Given the description of an element on the screen output the (x, y) to click on. 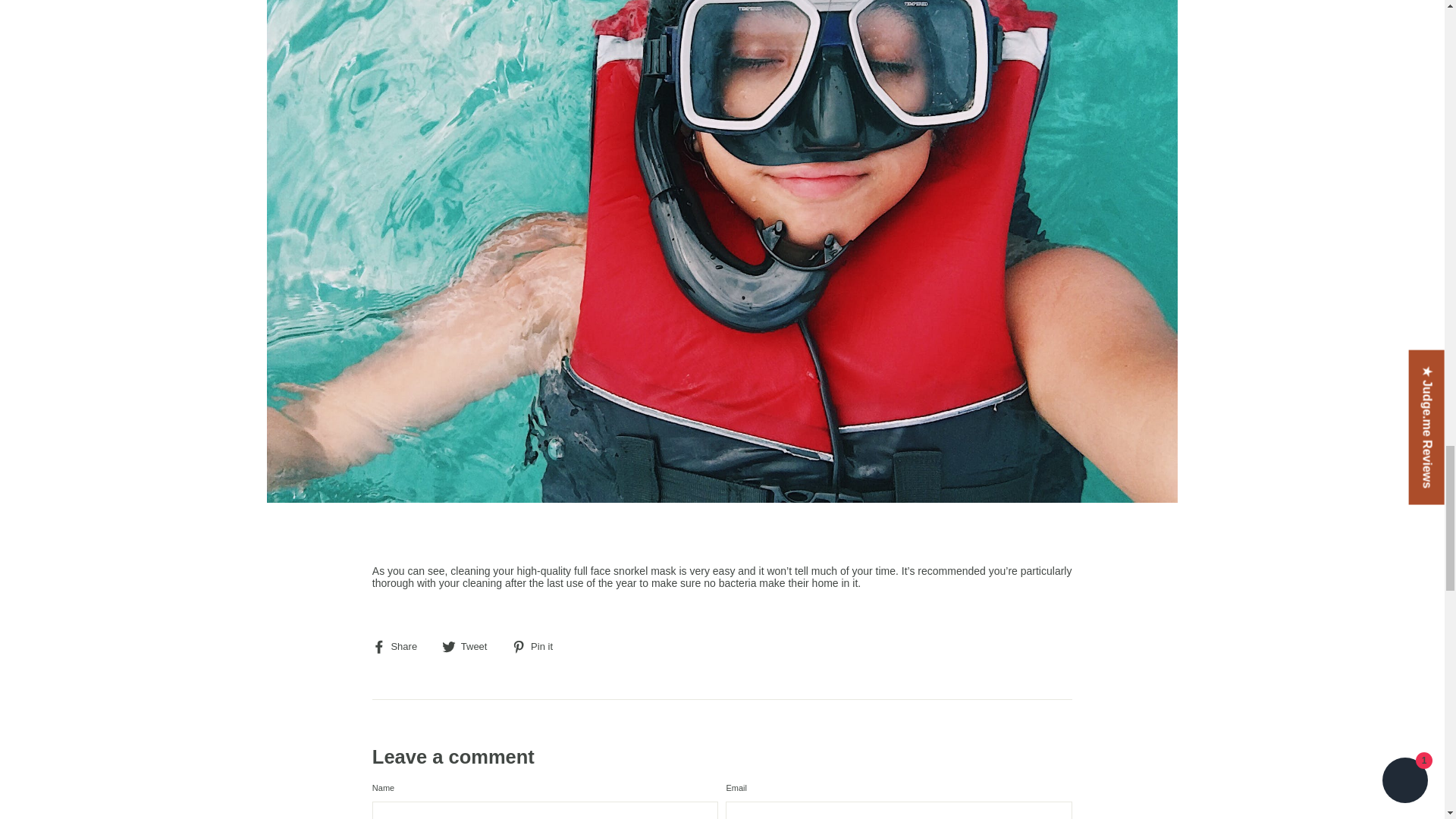
Tweet on Twitter (469, 646)
Pin on Pinterest (538, 646)
Share on Facebook (400, 646)
